Given the description of an element on the screen output the (x, y) to click on. 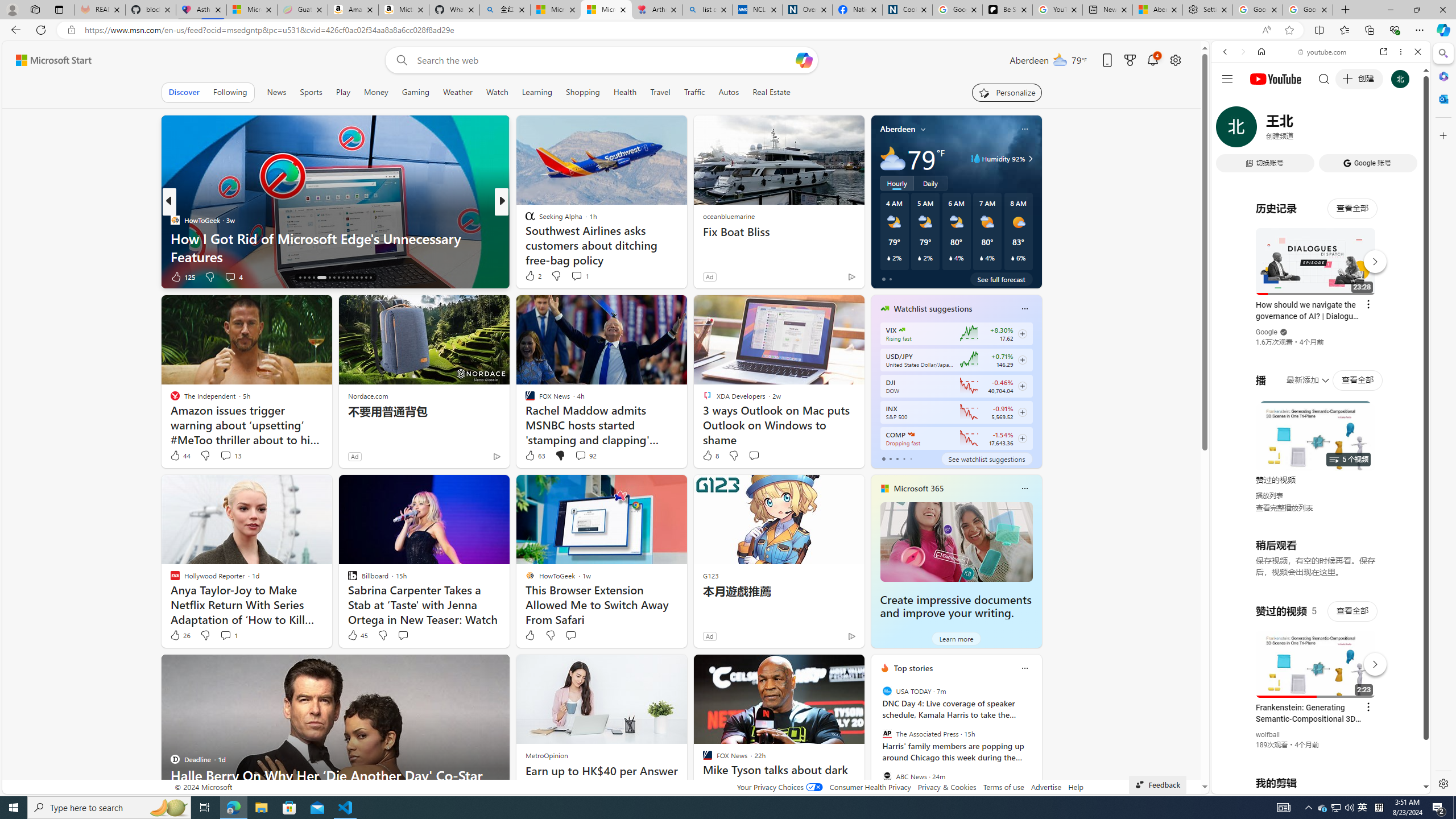
8 Like (710, 455)
CBOE Market Volatility Index (901, 329)
See full forecast (1000, 278)
AutomationID: tab-16 (299, 277)
View comments 4 Comment (233, 276)
